Given the description of an element on the screen output the (x, y) to click on. 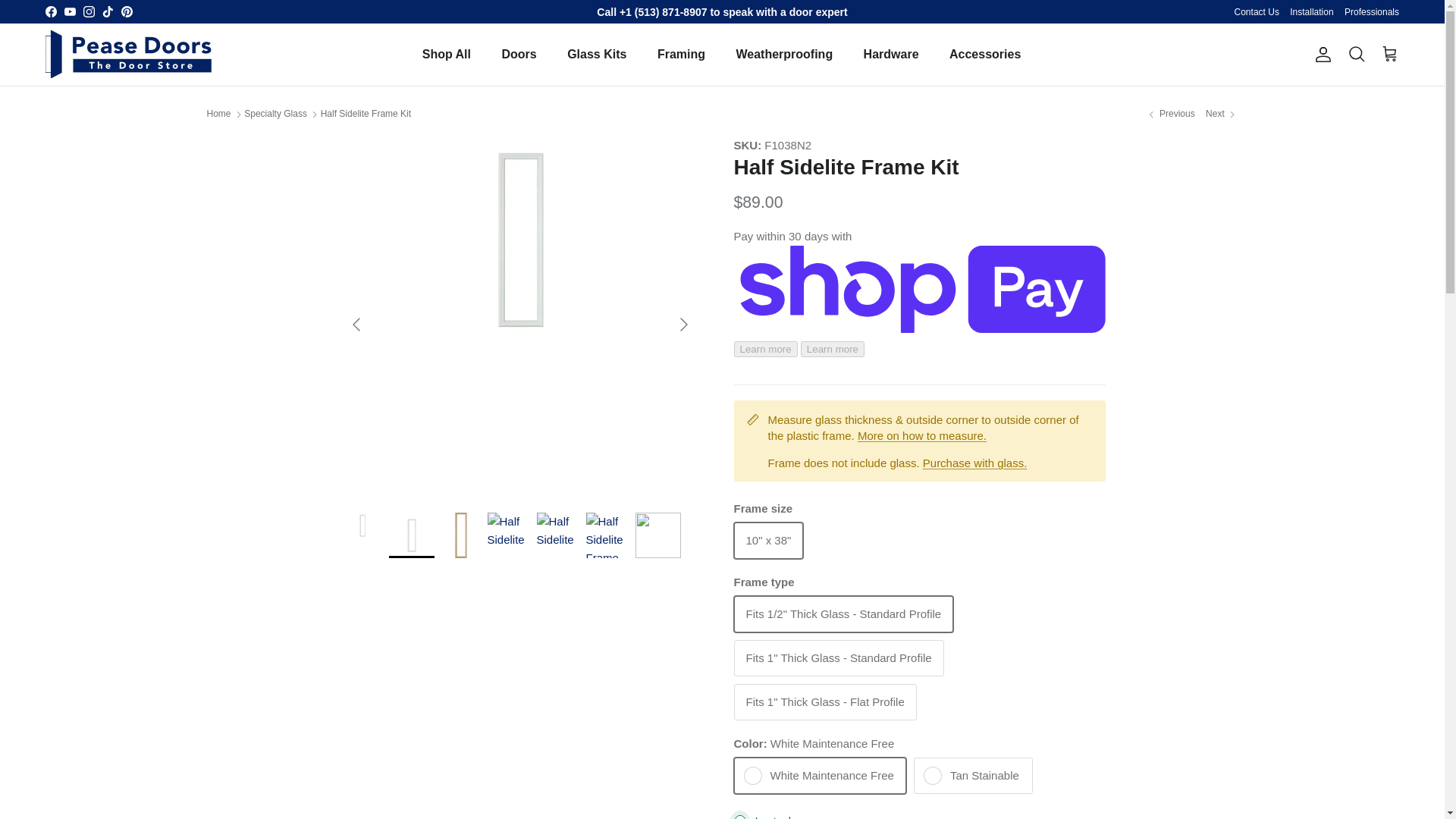
Installation (1311, 11)
Half Sidelite Door Glass (975, 462)
Glass Kits (596, 54)
Accessories (984, 54)
Cart (1389, 53)
Pease Doors: The Door Store on Pinterest (126, 11)
Contact Us (1256, 11)
Pinterest (126, 11)
Professionals (1371, 11)
Account (1319, 54)
Instagram (88, 11)
Facebook (50, 11)
Pease Doors: The Door Store on TikTok (107, 11)
Search (1356, 53)
Pease Doors: The Door Store on YouTube (69, 11)
